Given the description of an element on the screen output the (x, y) to click on. 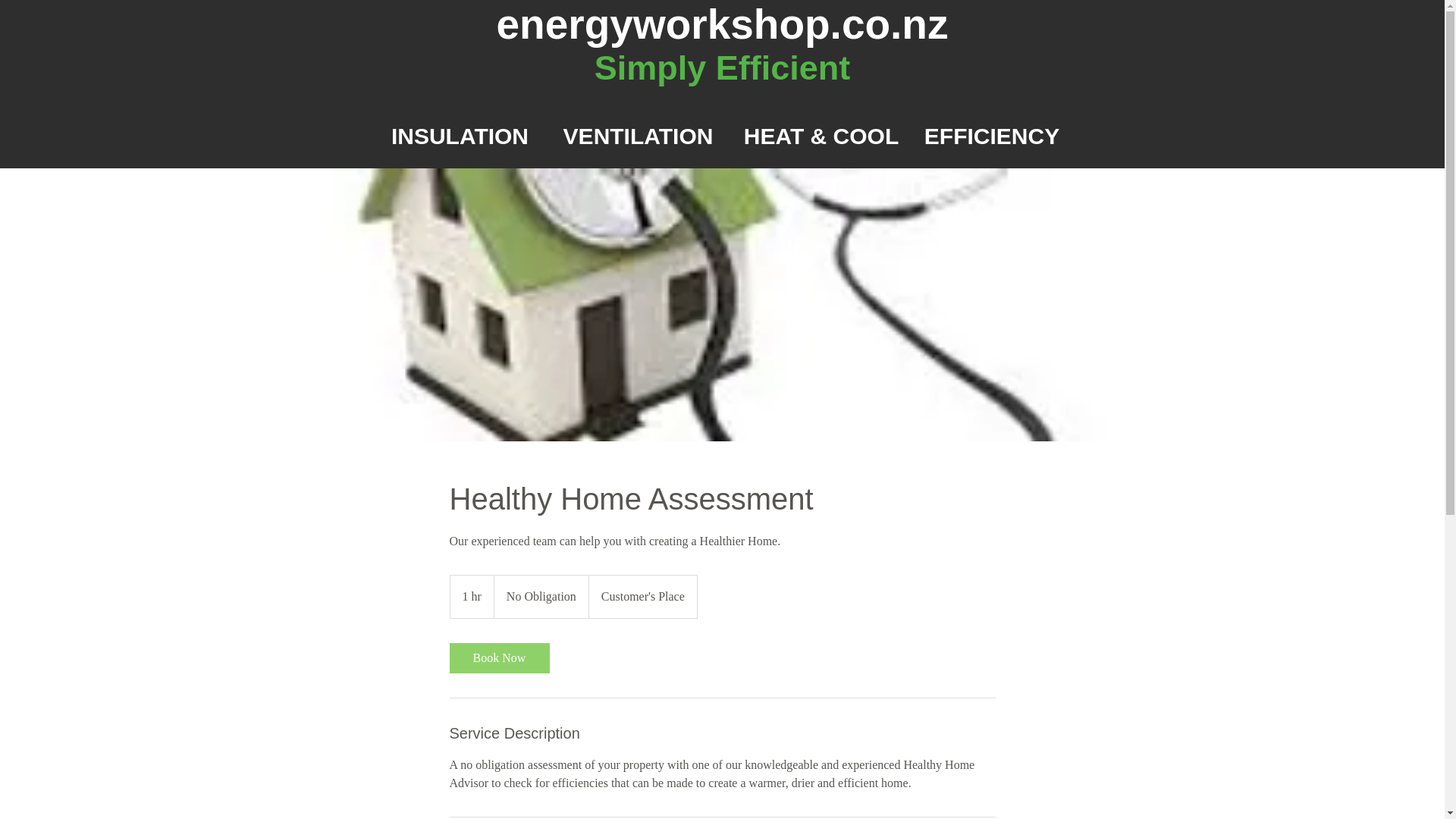
EFFICIENCY (991, 136)
energyworkshop.co.nz (722, 23)
Book Now (498, 657)
VENTILATION (637, 136)
Simply Efficient (722, 67)
INSULATION (459, 136)
